Given the description of an element on the screen output the (x, y) to click on. 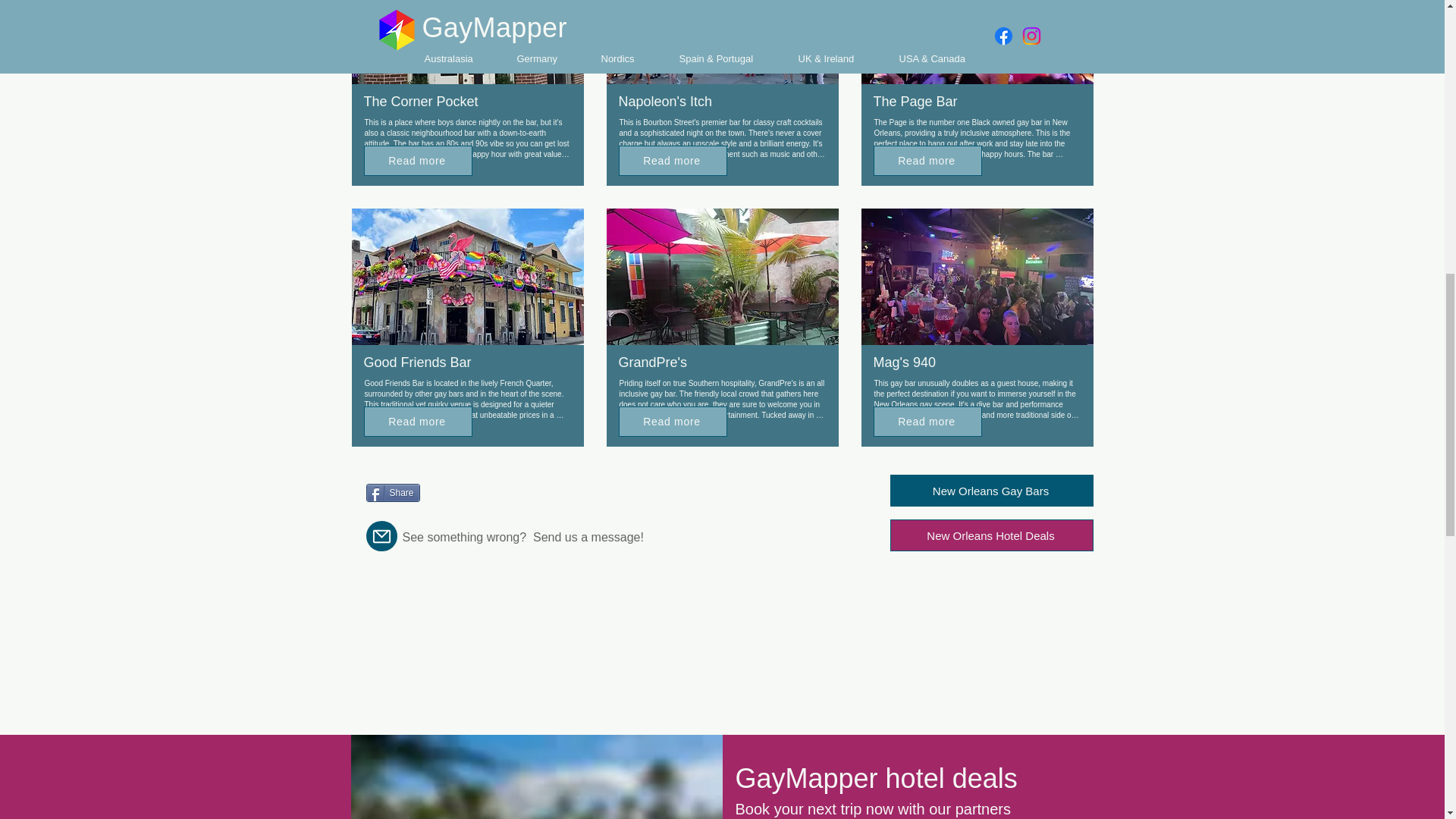
grandpres-gay-bar-new-orleans-gaymapper.jpg (722, 276)
mags-940-gay-bar-new-orleans-gaymapper.jpg (977, 276)
napoleons-itch-gay-bar-new-orleans-gaymapper.jpg (722, 42)
the-corner-pocket-gay-bar-new-orleans-gaymapper.jpg (467, 42)
the.page-bar-gay-bar-new-orleans-gaymapper.jpg (977, 42)
good-friends-bar-gay-bar-new-orleans-gaymapper.jpg (467, 276)
Share (392, 493)
